Given the description of an element on the screen output the (x, y) to click on. 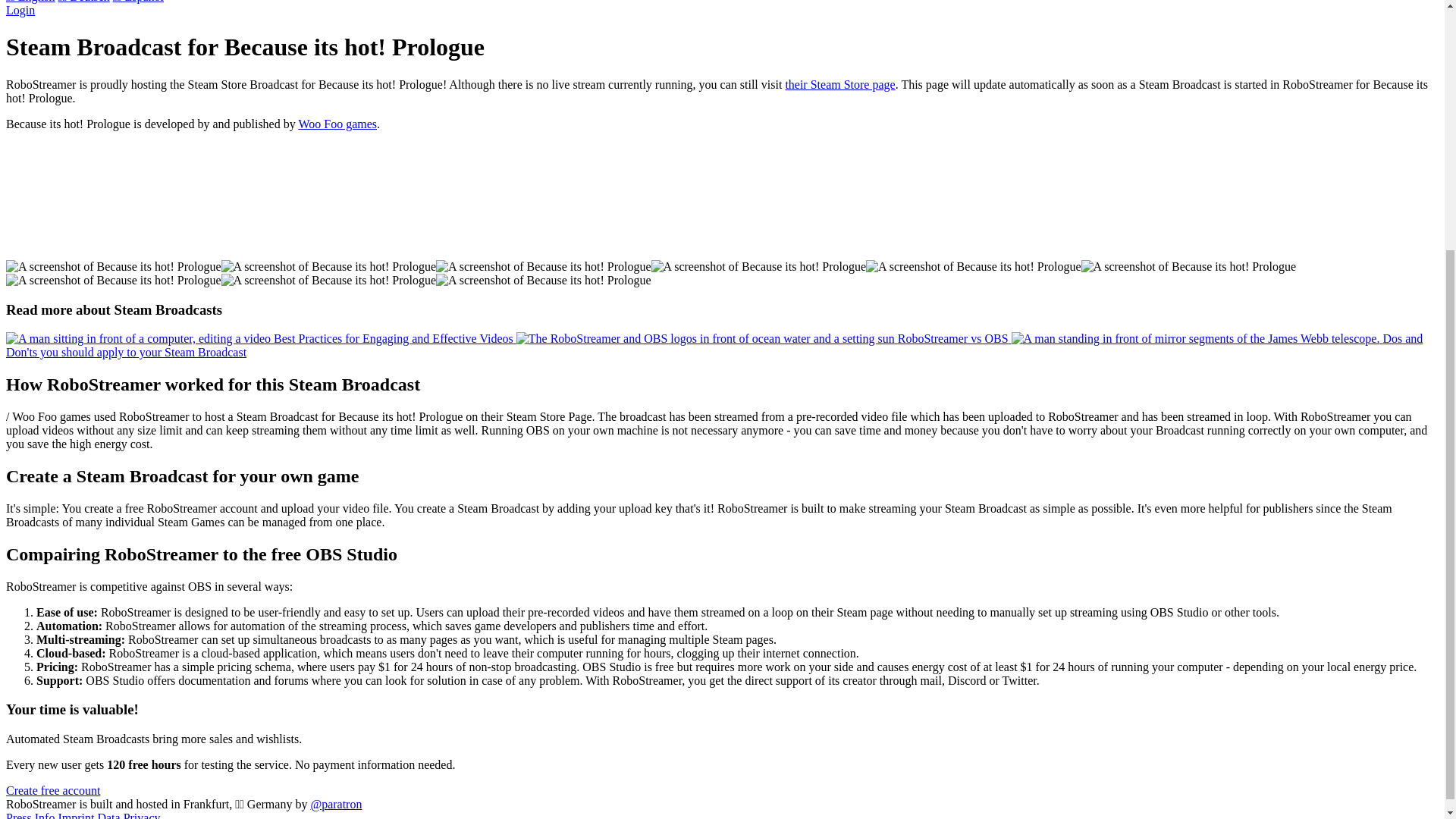
Best Practices for Engaging and Effective Videos (260, 338)
Dos and Don'ts you should apply to your Steam Broadcast (713, 345)
their Steam Store page (839, 83)
Login (19, 10)
RoboStreamer vs OBS (763, 338)
Woo Foo games (337, 123)
Create free account (52, 789)
